Given the description of an element on the screen output the (x, y) to click on. 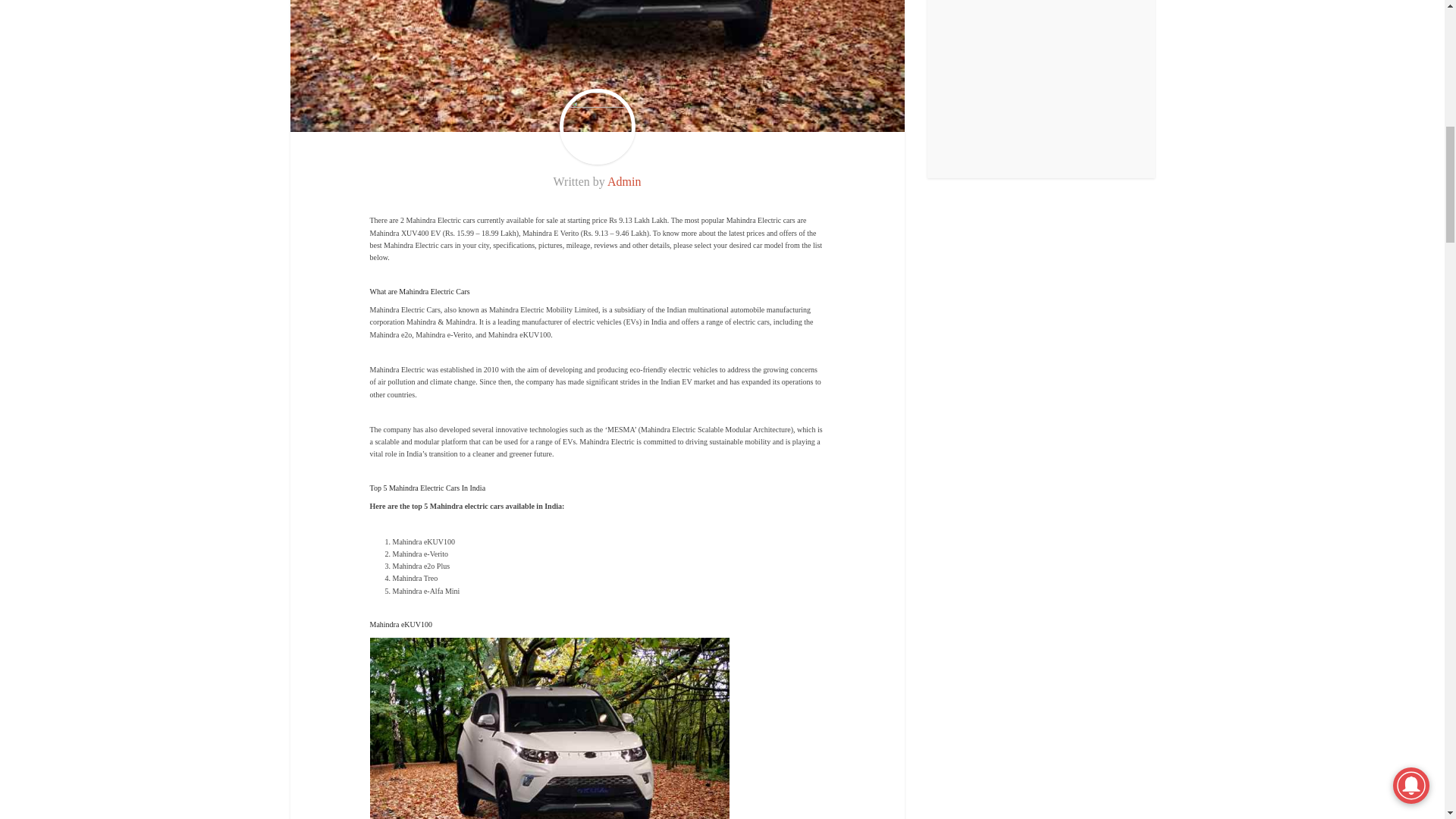
Admin (623, 181)
